Given the description of an element on the screen output the (x, y) to click on. 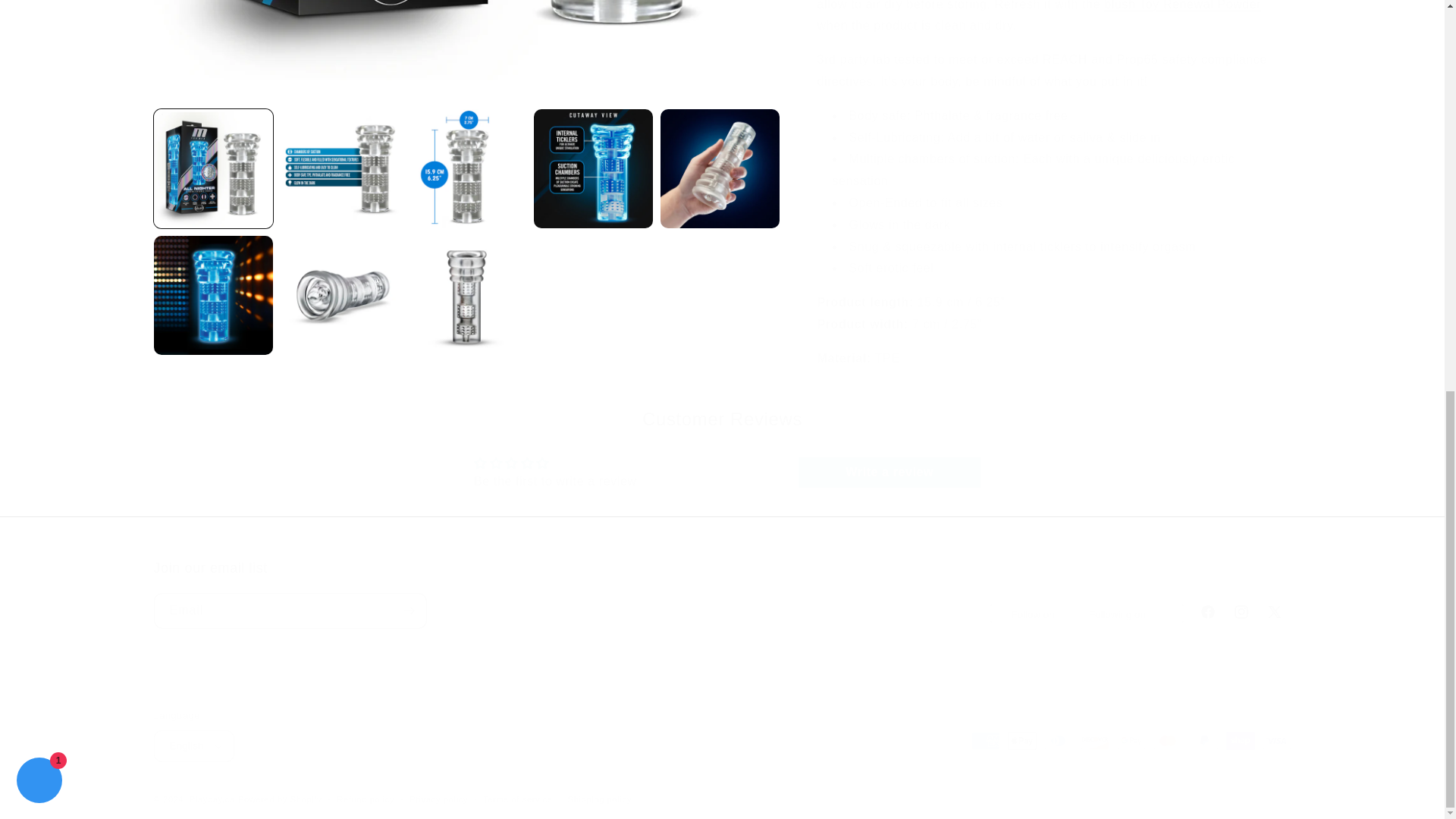
Shopify online store chat (38, 33)
